Given the description of an element on the screen output the (x, y) to click on. 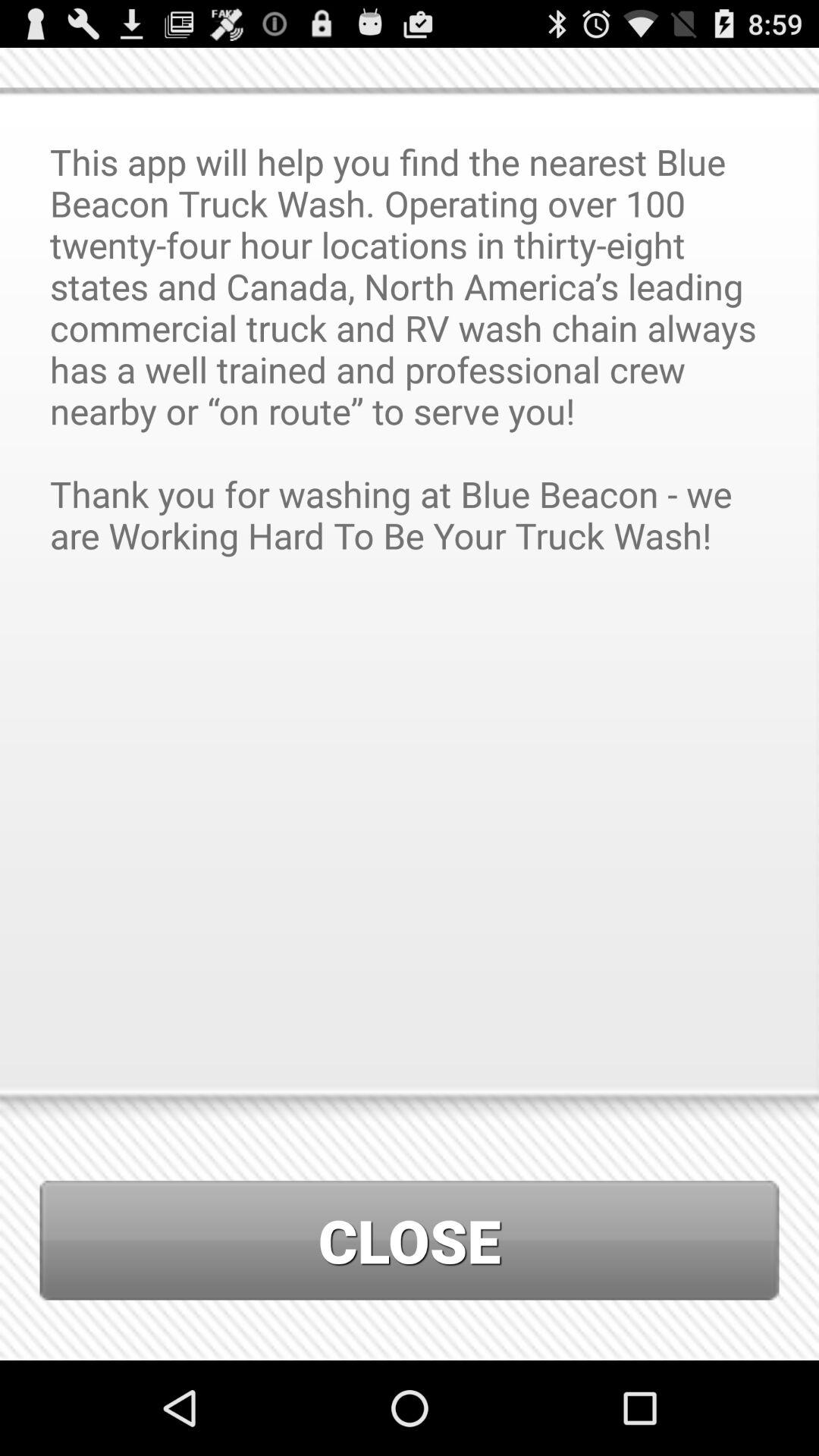
jump until close icon (409, 1240)
